Given the description of an element on the screen output the (x, y) to click on. 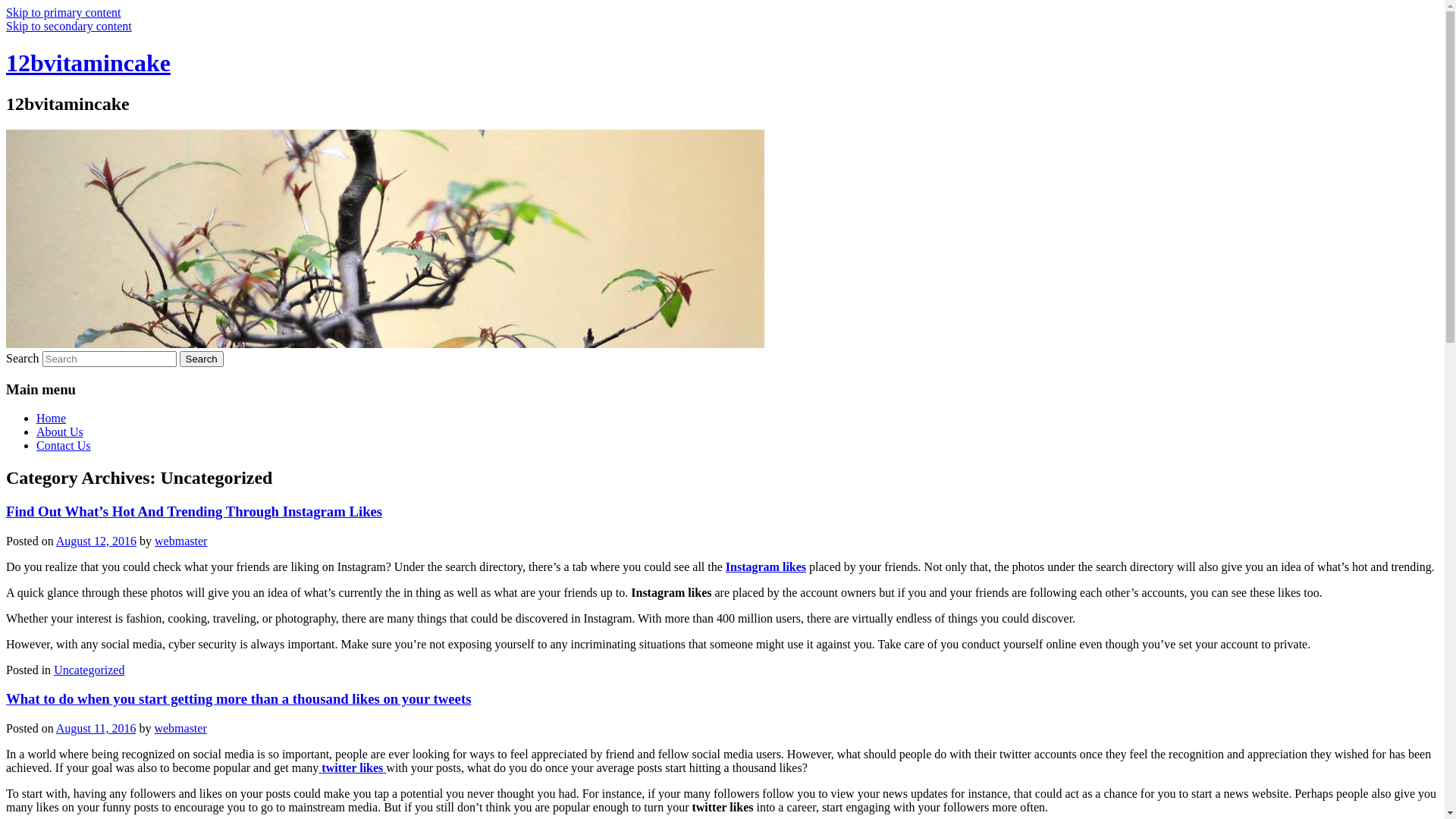
Uncategorized Element type: text (88, 669)
Instagram likes Element type: text (765, 566)
August 12, 2016 Element type: text (96, 540)
Skip to primary content Element type: text (63, 12)
twitter likes Element type: text (351, 767)
webmaster Element type: text (180, 540)
Search Element type: text (201, 359)
About Us Element type: text (59, 431)
Skip to secondary content Element type: text (68, 25)
Contact Us Element type: text (63, 445)
webmaster Element type: text (179, 727)
Home Element type: text (50, 417)
12bvitamincake Element type: text (88, 62)
August 11, 2016 Element type: text (96, 727)
